Given the description of an element on the screen output the (x, y) to click on. 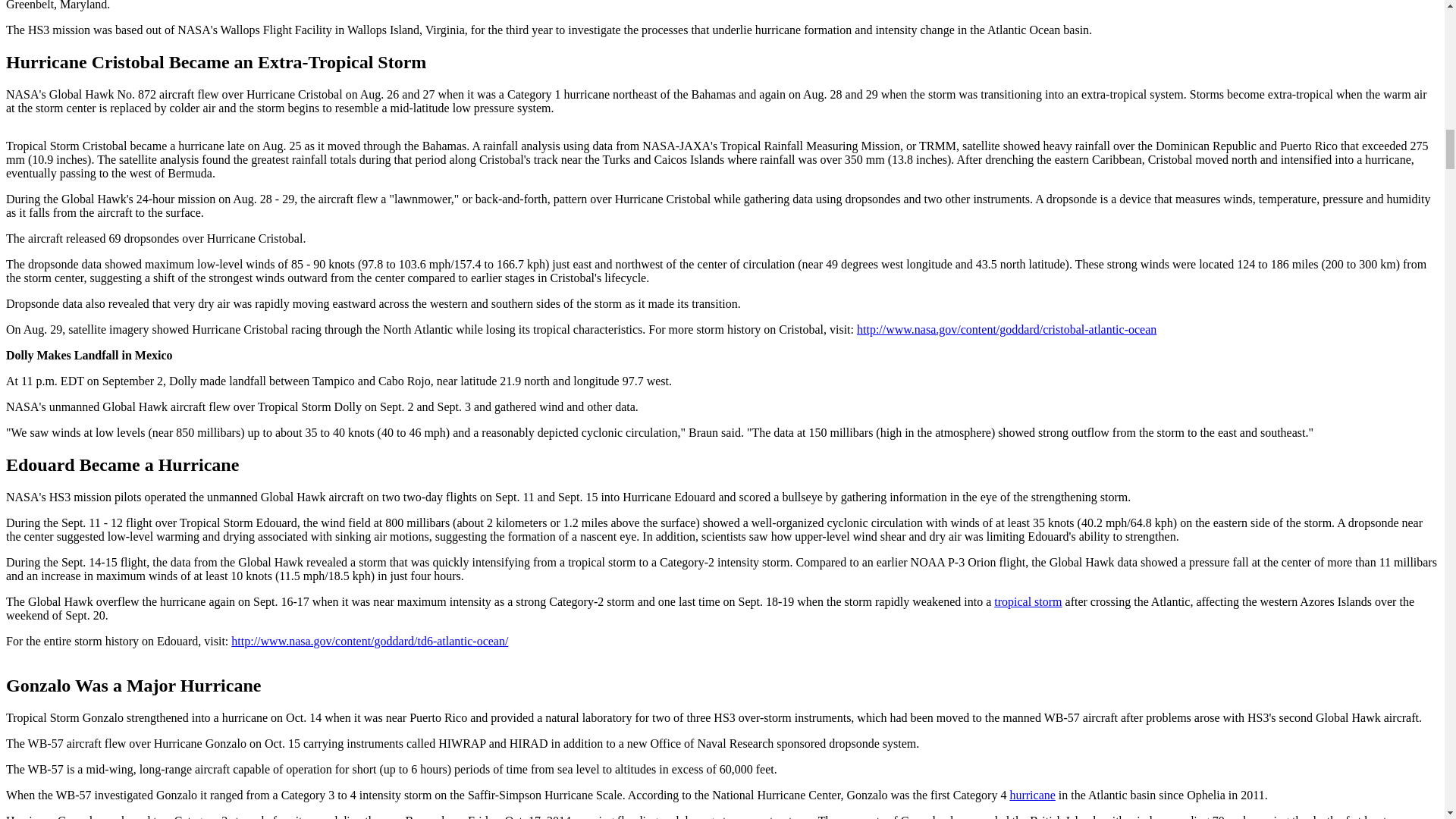
tropical storm (1027, 601)
